Given the description of an element on the screen output the (x, y) to click on. 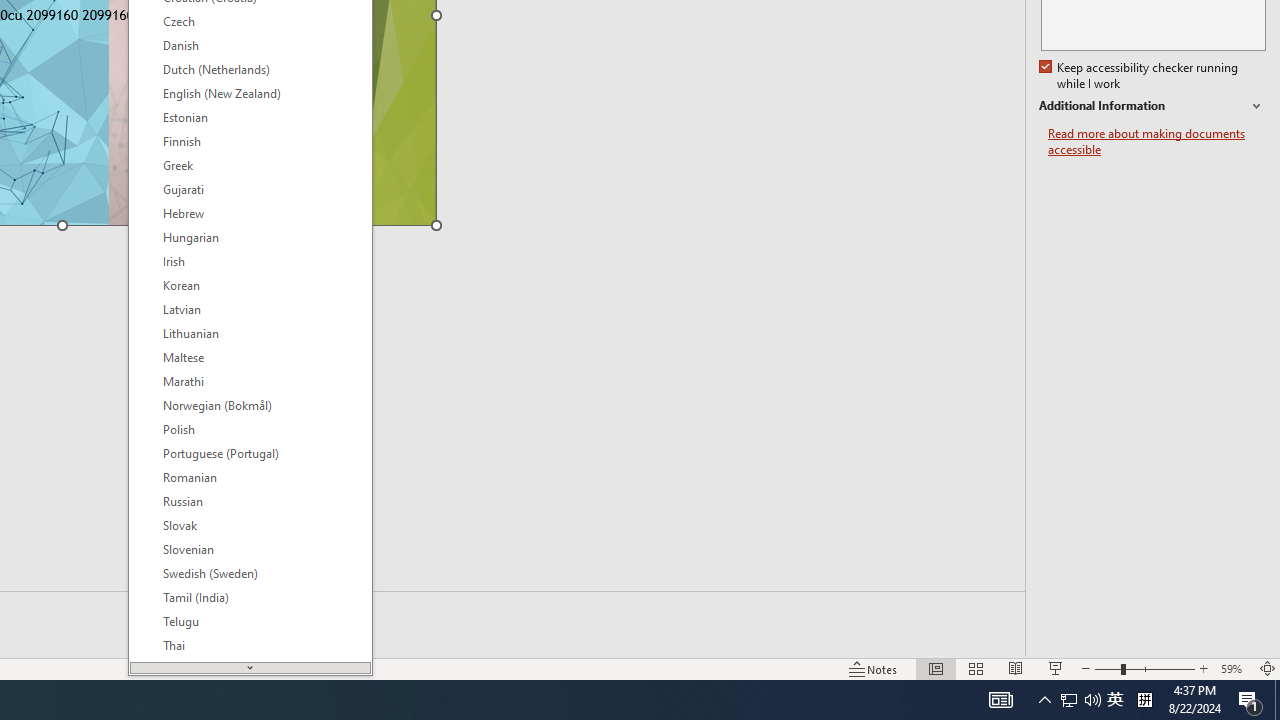
Zoom 59% (1234, 668)
